Given the description of an element on the screen output the (x, y) to click on. 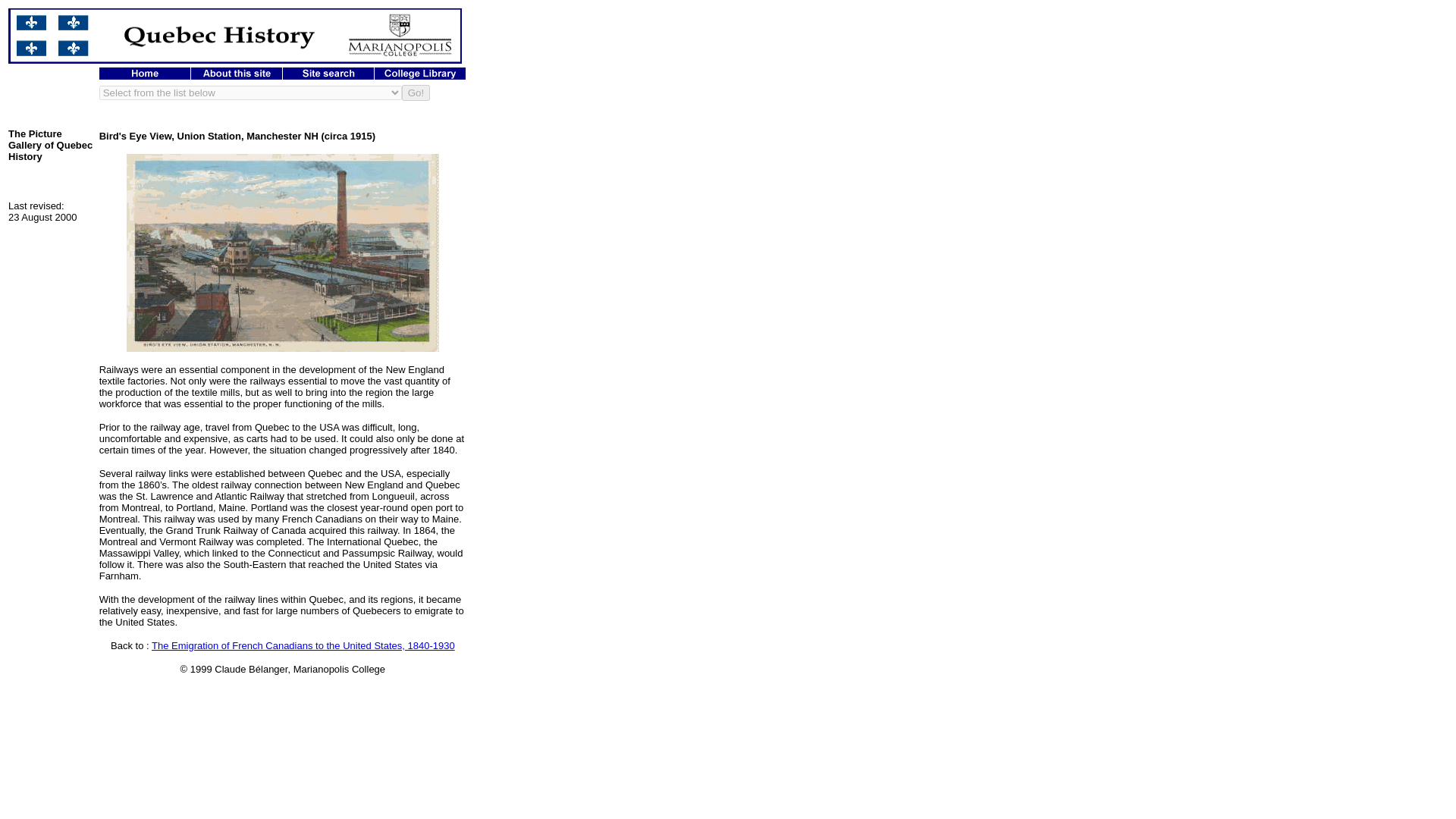
Go! (415, 92)
